Given the description of an element on the screen output the (x, y) to click on. 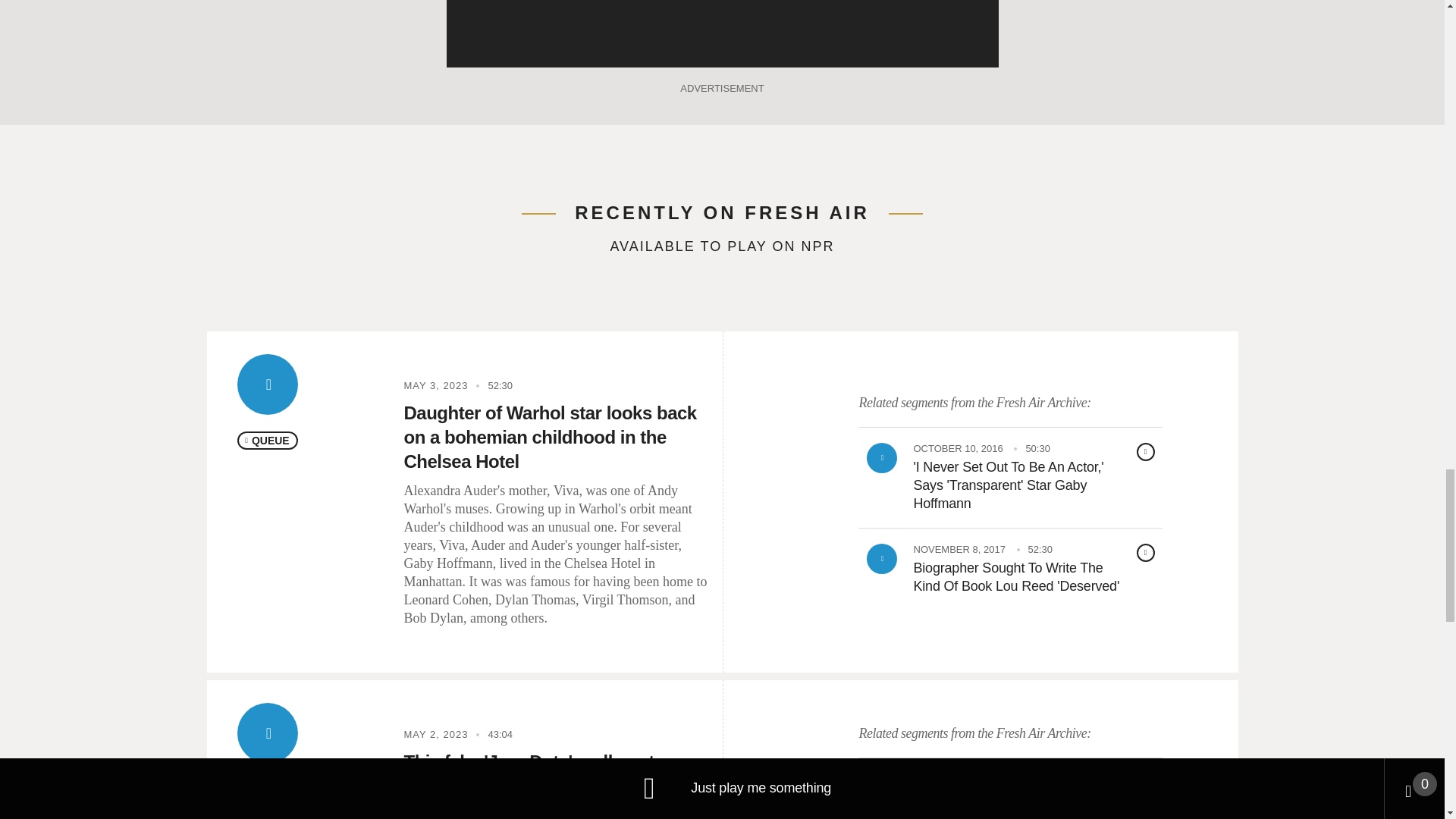
3rd party ad content (721, 33)
